Given the description of an element on the screen output the (x, y) to click on. 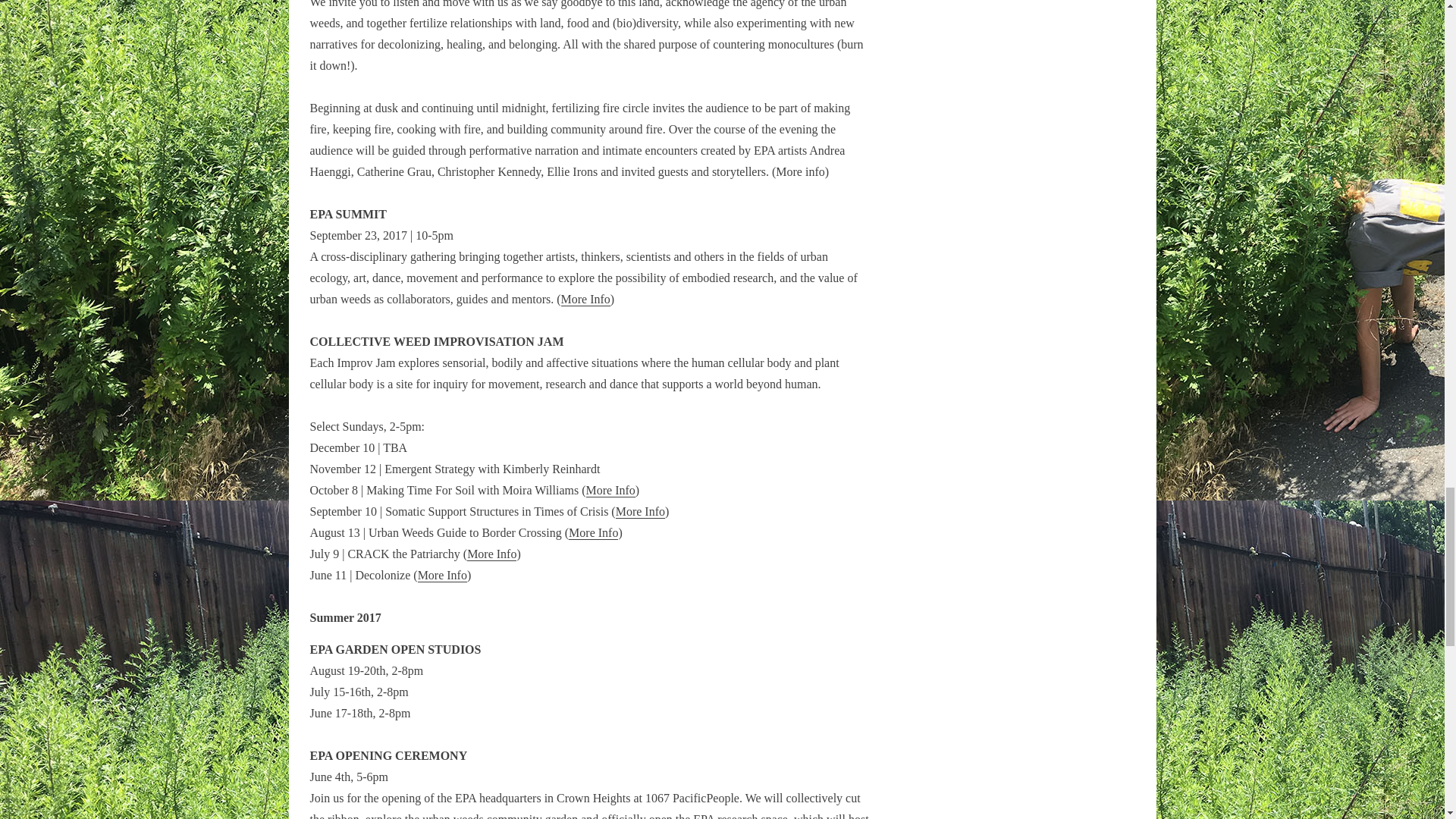
More Info (640, 511)
More Info (491, 554)
More Info (610, 490)
More Info (585, 299)
More Info (442, 575)
More Info (593, 532)
